Given the description of an element on the screen output the (x, y) to click on. 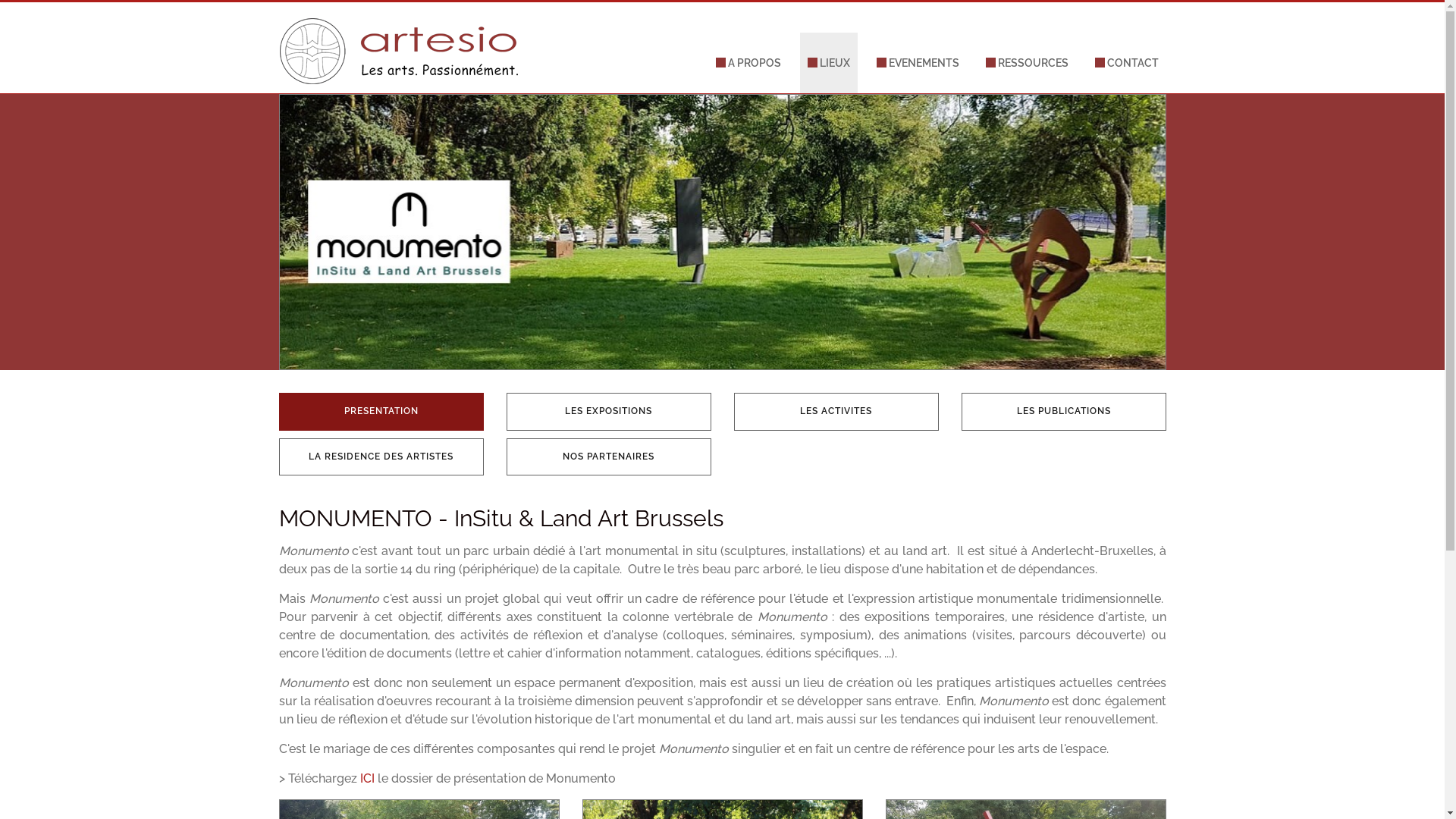
 LIEUX Element type: text (827, 62)
 A PROPOS Element type: text (748, 62)
ARTESIO Element type: hover (400, 21)
ICI Element type: text (366, 778)
 RESSOURCES Element type: text (1027, 62)
 EVENEMENTS Element type: text (917, 62)
LA RESIDENCE DES ARTISTES Element type: text (381, 456)
LES ACTIVITES Element type: text (836, 410)
 CONTACT Element type: text (1126, 62)
NOS PARTENAIRES Element type: text (608, 456)
PRESENTATION Element type: text (381, 410)
LES PUBLICATIONS Element type: text (1063, 410)
LES EXPOSITIONS Element type: text (608, 410)
